Given the description of an element on the screen output the (x, y) to click on. 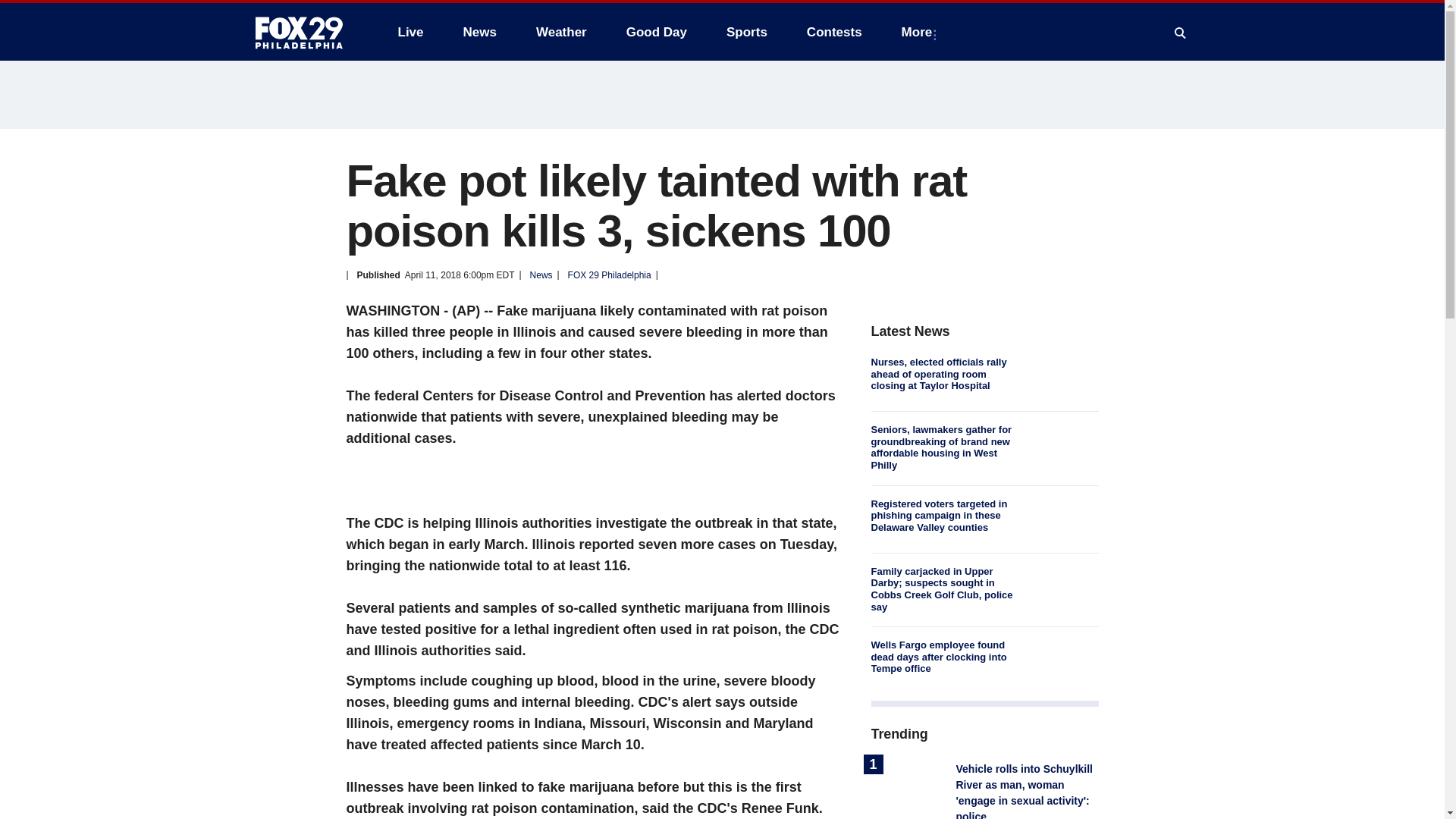
Weather (561, 32)
More (919, 32)
News (479, 32)
Contests (834, 32)
Good Day (656, 32)
Live (410, 32)
Sports (746, 32)
